Given the description of an element on the screen output the (x, y) to click on. 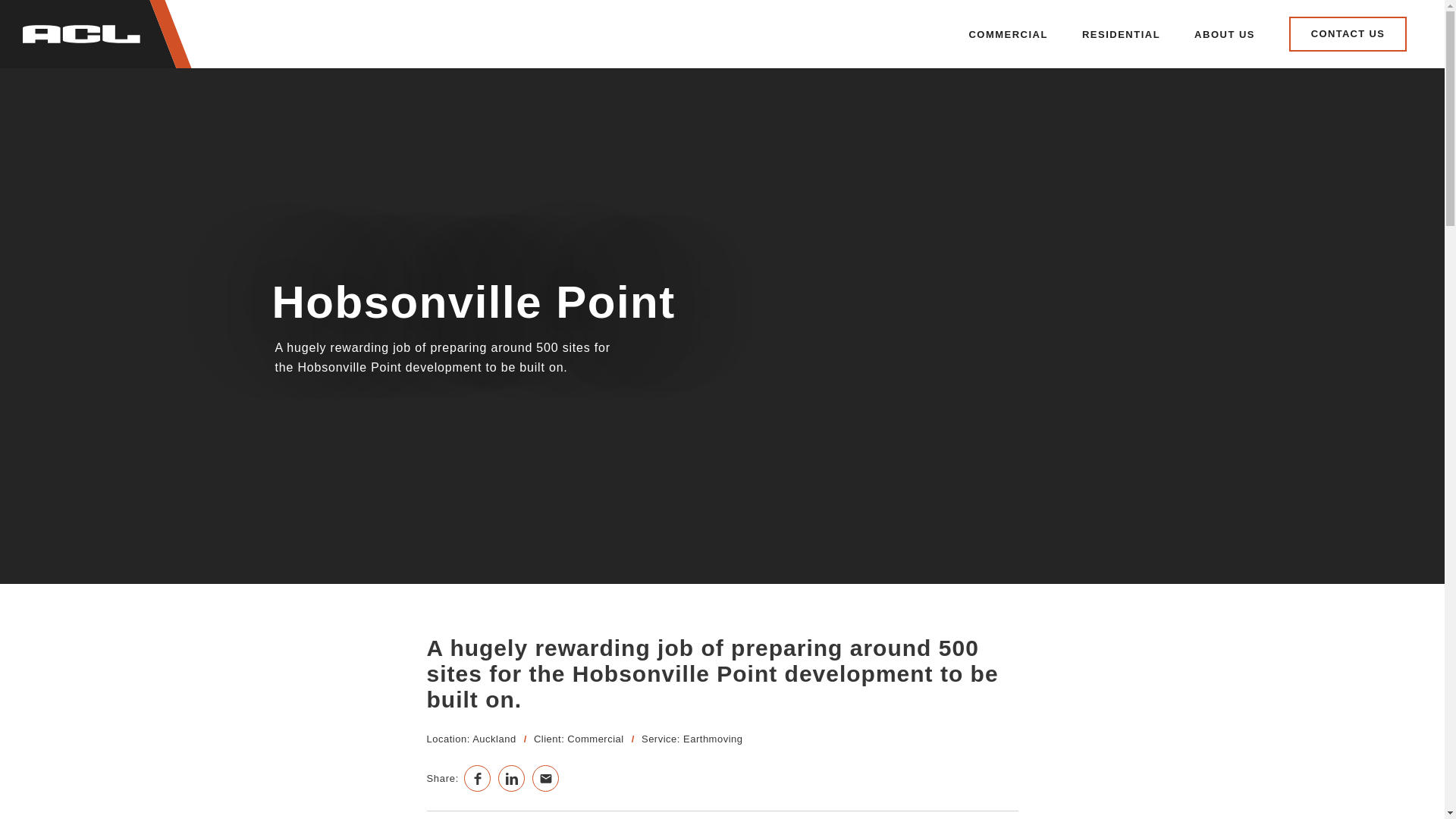
COMMERCIAL (1008, 34)
ABOUT US (1224, 34)
Share via Email (545, 777)
CONTACT US (1347, 33)
Share on Facebook (477, 777)
Share on LinkedIn (510, 777)
RESIDENTIAL (1120, 34)
